Given the description of an element on the screen output the (x, y) to click on. 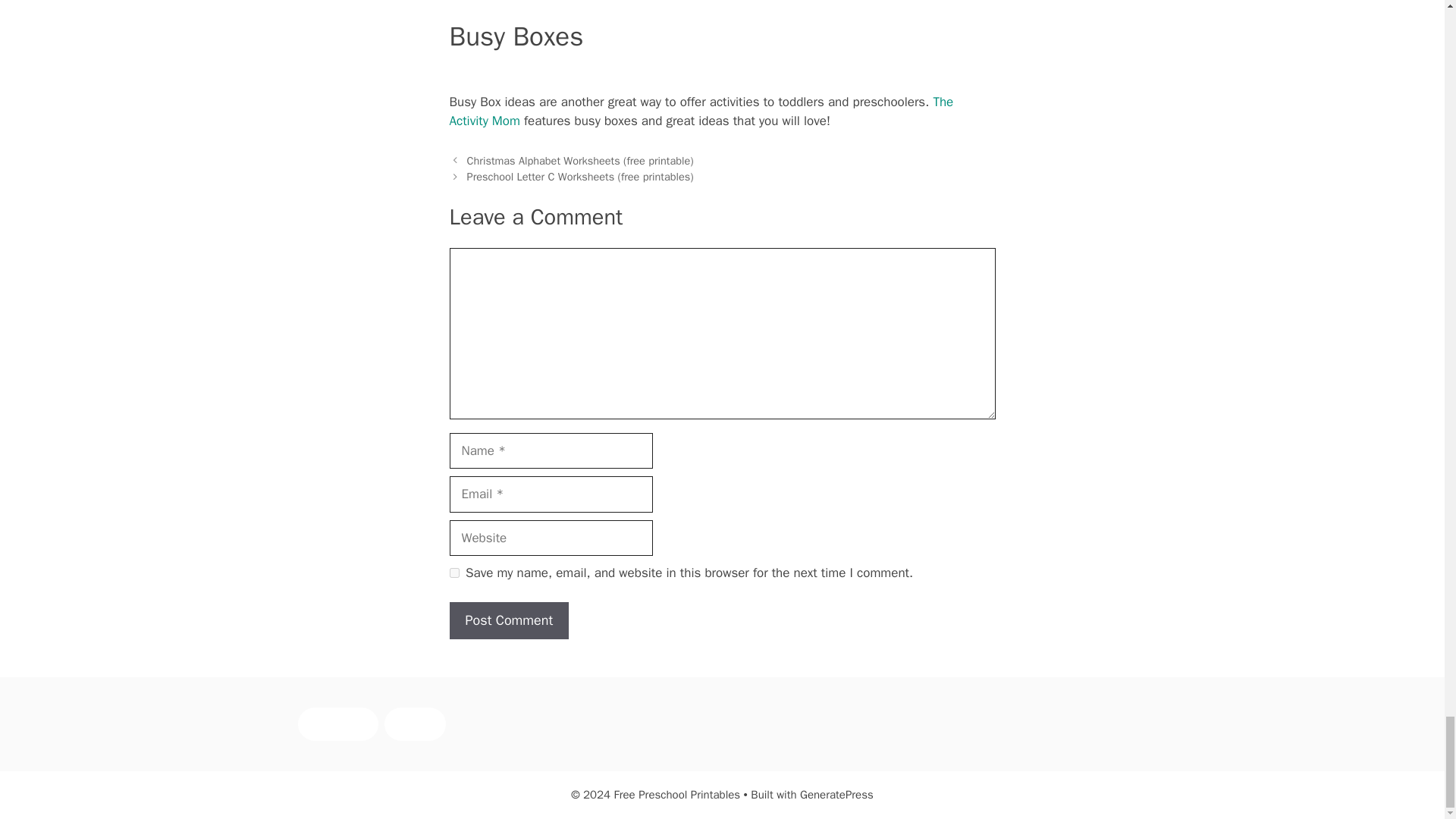
Next (580, 176)
Facebook (337, 724)
yes (453, 573)
The Activity Mom (700, 111)
Post Comment (508, 620)
Home (414, 724)
Post Comment (508, 620)
GeneratePress (836, 794)
Previous (580, 160)
